Given the description of an element on the screen output the (x, y) to click on. 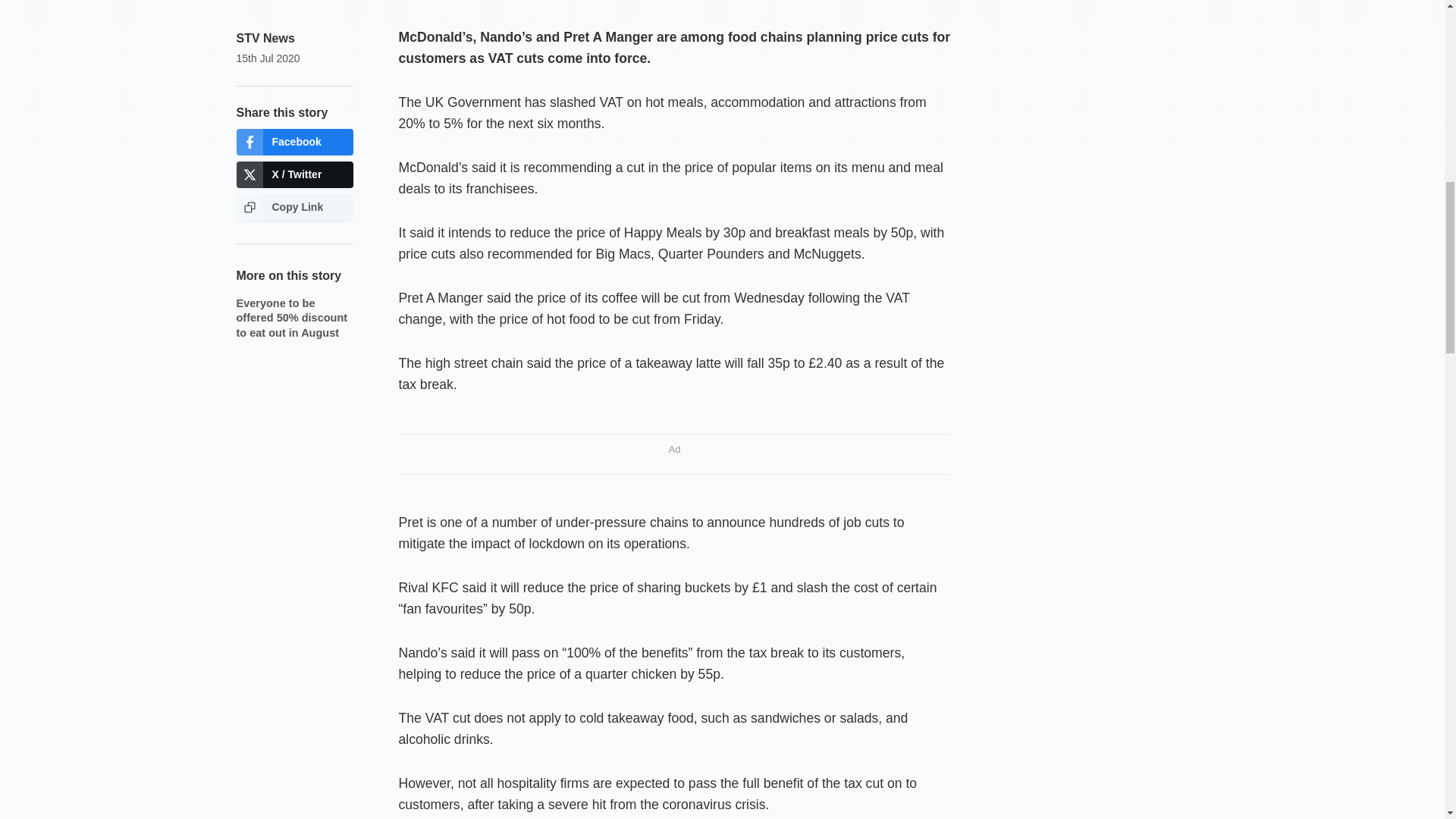
Facebook (294, 141)
